Given the description of an element on the screen output the (x, y) to click on. 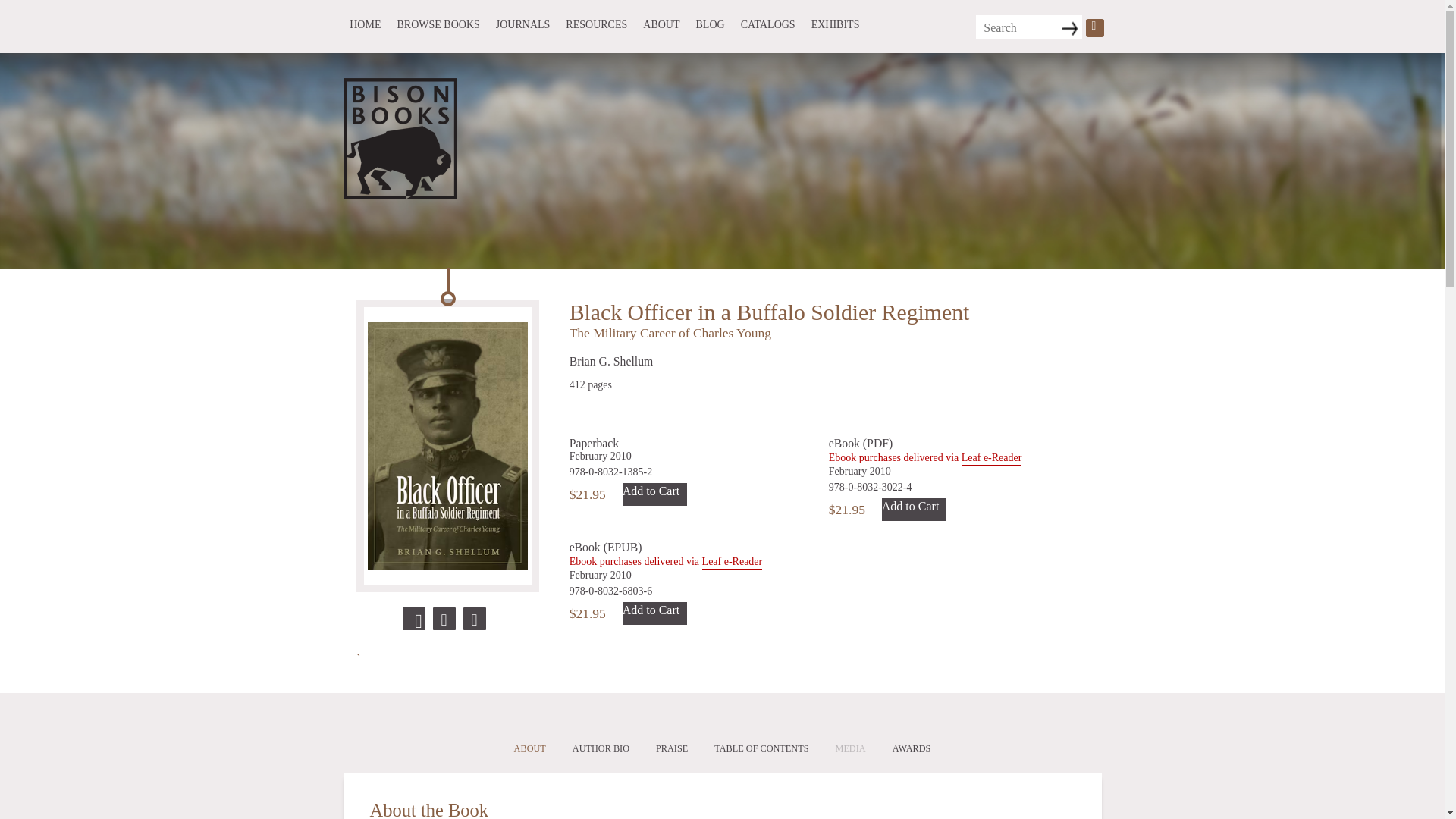
Add to Cart (655, 494)
Add to Cart (914, 508)
table of contents (761, 748)
awards (911, 748)
HOME (364, 24)
media (850, 748)
author bio (600, 748)
JOURNALS (522, 24)
Share on Facebook (414, 618)
Add to Cart (655, 612)
RESOURCES (596, 24)
CATALOGS (767, 24)
Shopping Cart (1094, 27)
Share on Twitter (443, 618)
EXHIBITS (835, 24)
